Given the description of an element on the screen output the (x, y) to click on. 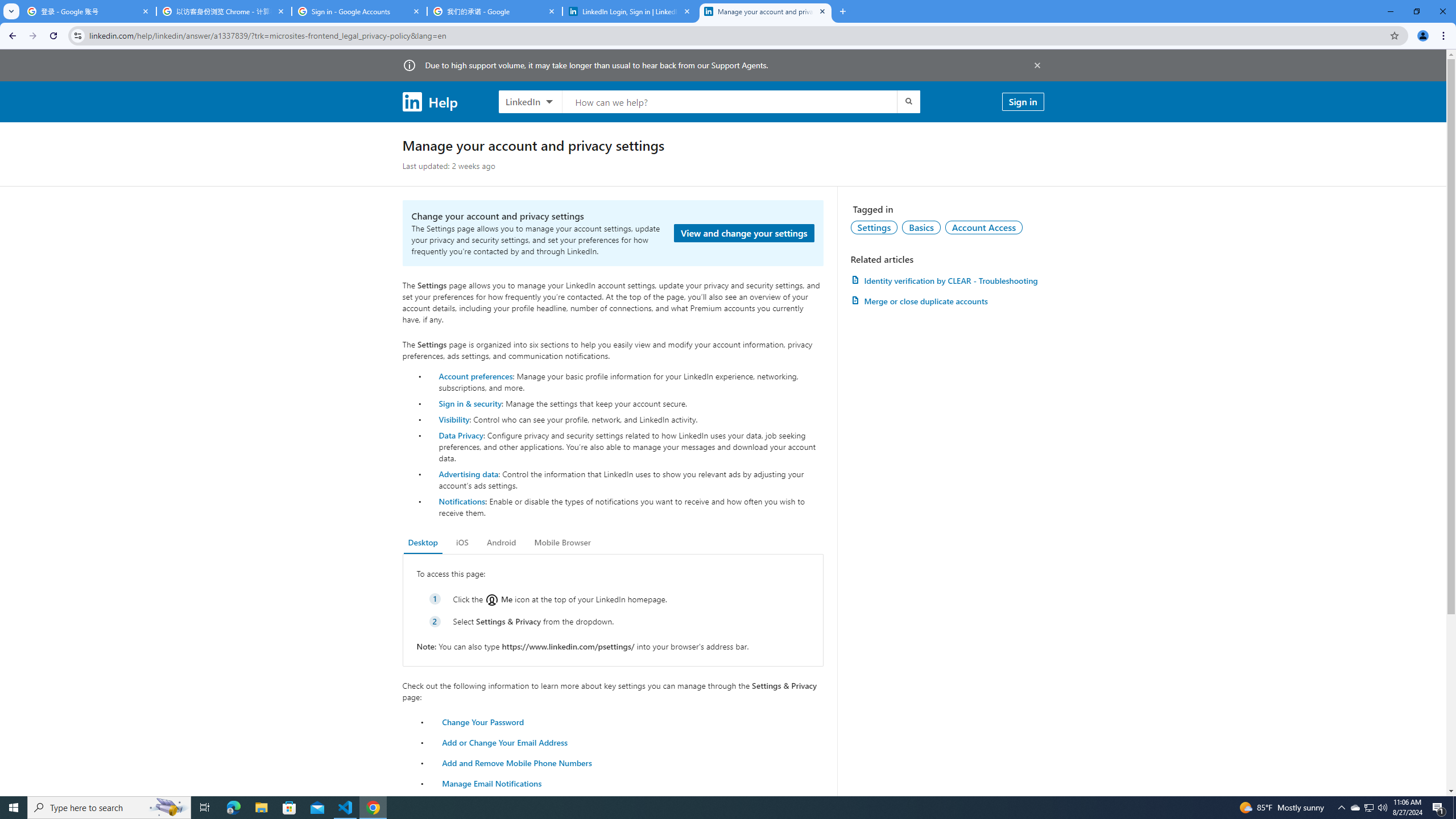
Submit search (908, 101)
LinkedIn products to search, LinkedIn selected (530, 101)
AutomationID: article-link-a1457505 (946, 280)
Advertising data (468, 473)
Manage your account and privacy settings | LinkedIn Help (765, 11)
Manage Email Notifications (491, 782)
Change Your Password (483, 721)
